Given the description of an element on the screen output the (x, y) to click on. 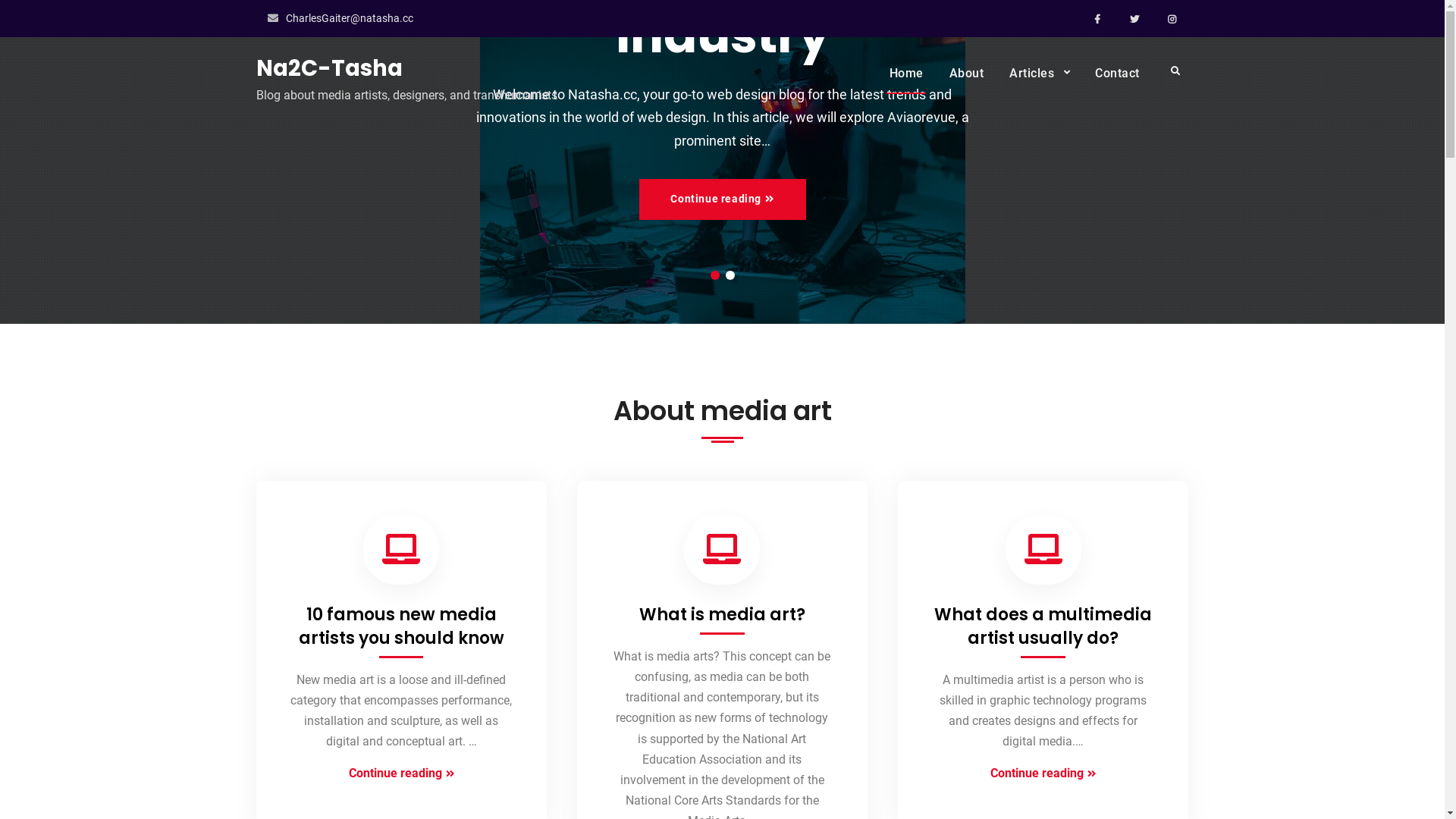
About Element type: text (965, 72)
10 famous new media artists you should know Element type: text (401, 625)
What is media art? Element type: text (722, 614)
twitter Element type: text (1133, 18)
CharlesGaiter@natasha.cc Element type: text (348, 18)
Search Element type: text (1174, 70)
instagram Element type: text (1171, 18)
Articles Element type: text (1038, 72)
facebook Element type: text (1097, 18)
Na2C-Tasha Element type: text (329, 68)
Continue reading
What does a multimedia artist usually do? Element type: text (1042, 772)
What does a multimedia artist usually do? Element type: text (1042, 625)
Home Element type: text (906, 72)
Continue reading
10 famous new media artists you should know Element type: text (400, 772)
Contact Element type: text (1117, 72)
